Given the description of an element on the screen output the (x, y) to click on. 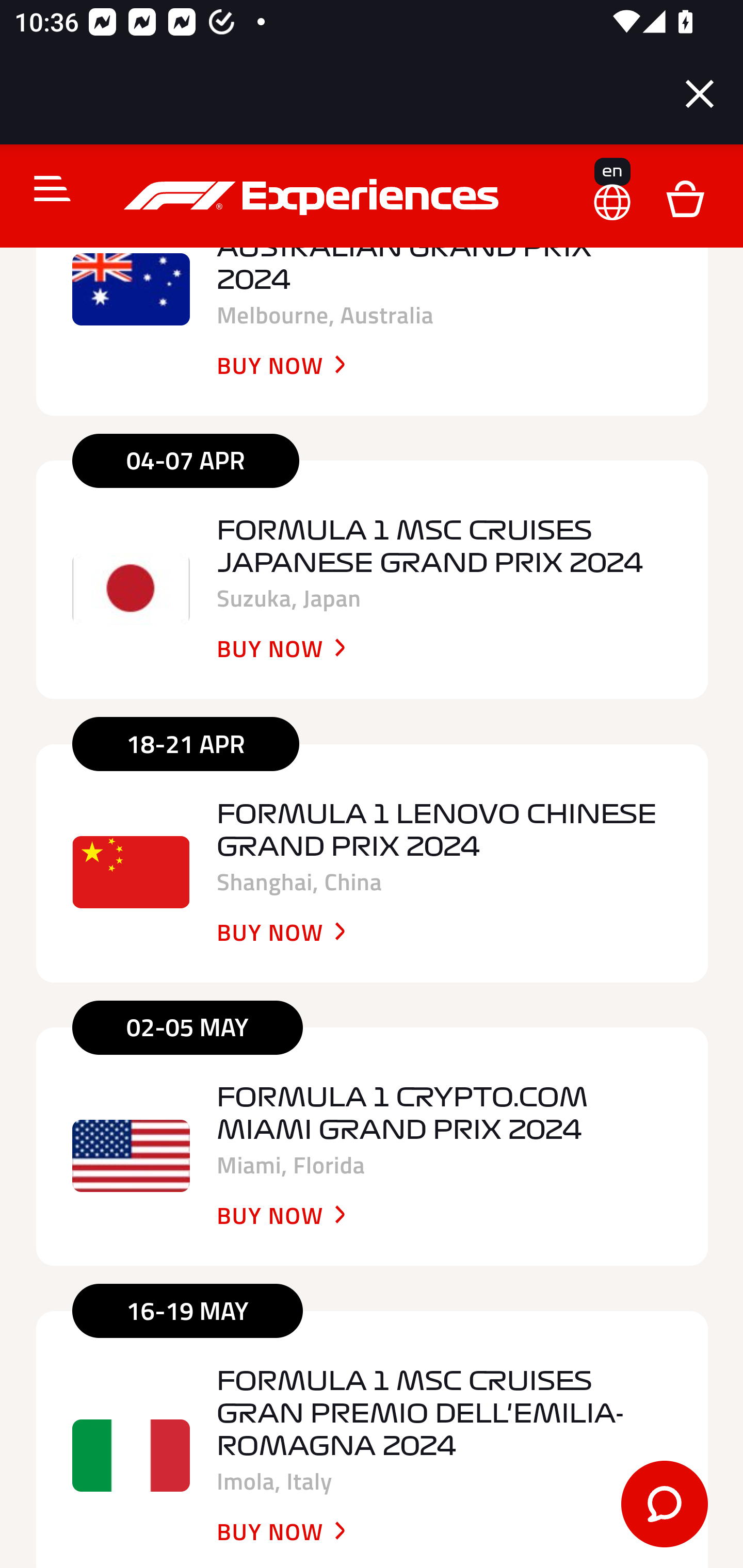
Close (699, 93)
Toggle navigation C (43, 190)
D (684, 198)
f1experiences (313, 198)
